Given the description of an element on the screen output the (x, y) to click on. 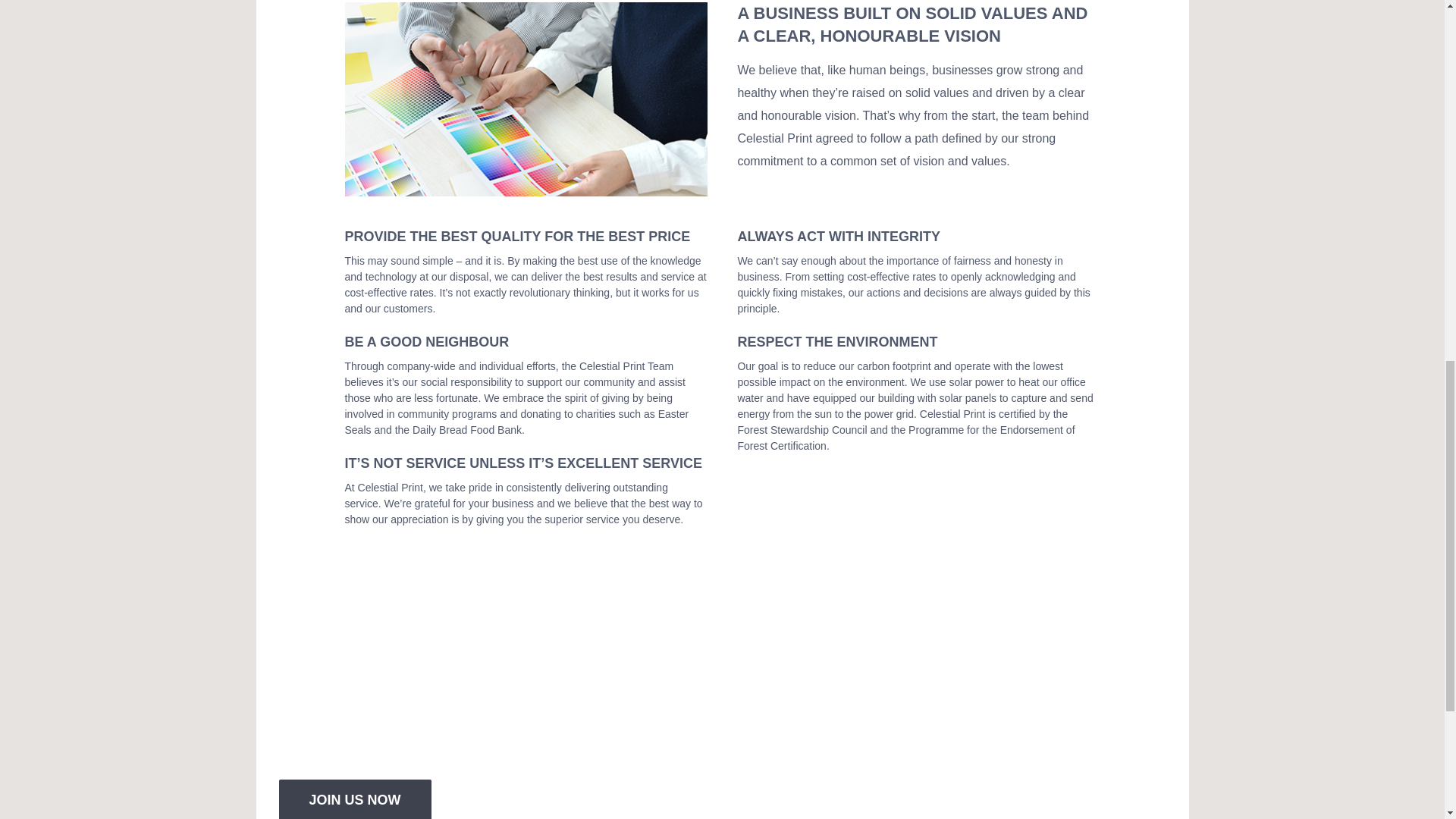
JOIN US NOW (354, 799)
